Given the description of an element on the screen output the (x, y) to click on. 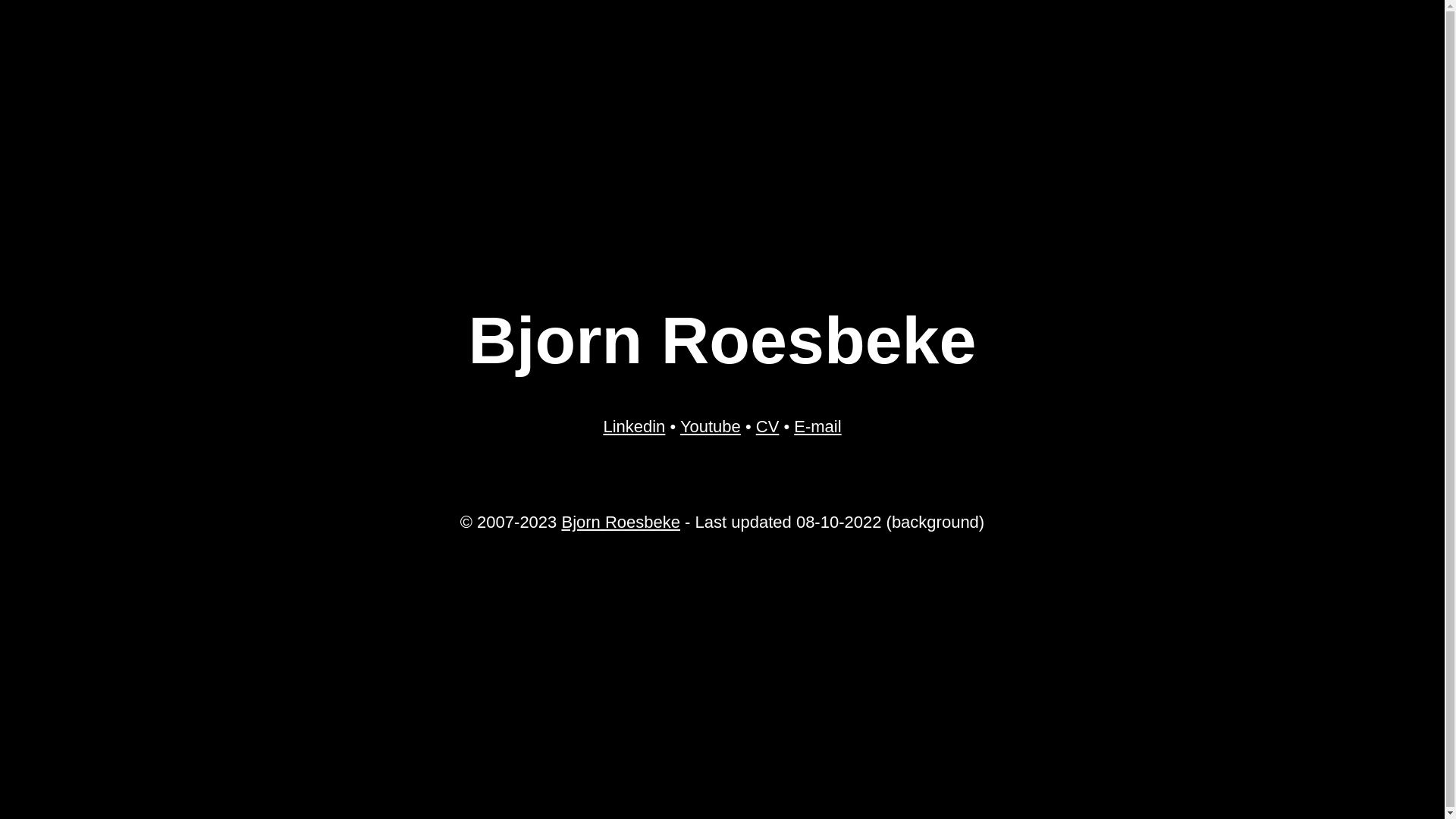
E-mail Element type: text (816, 426)
Bjorn Roesbeke Element type: text (620, 521)
Linkedin Element type: text (633, 426)
CV Element type: text (767, 426)
Youtube Element type: text (710, 426)
